Given the description of an element on the screen output the (x, y) to click on. 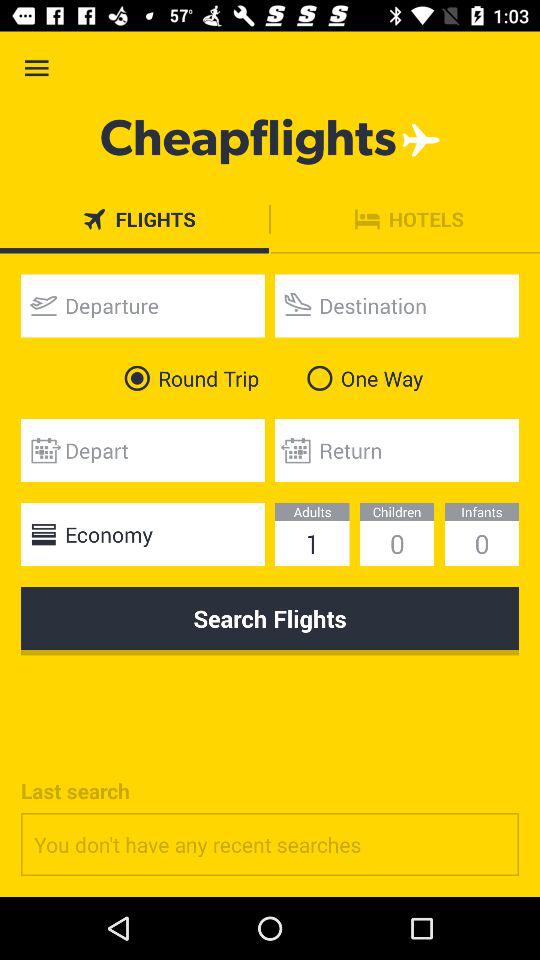
enter departure date (142, 450)
